Given the description of an element on the screen output the (x, y) to click on. 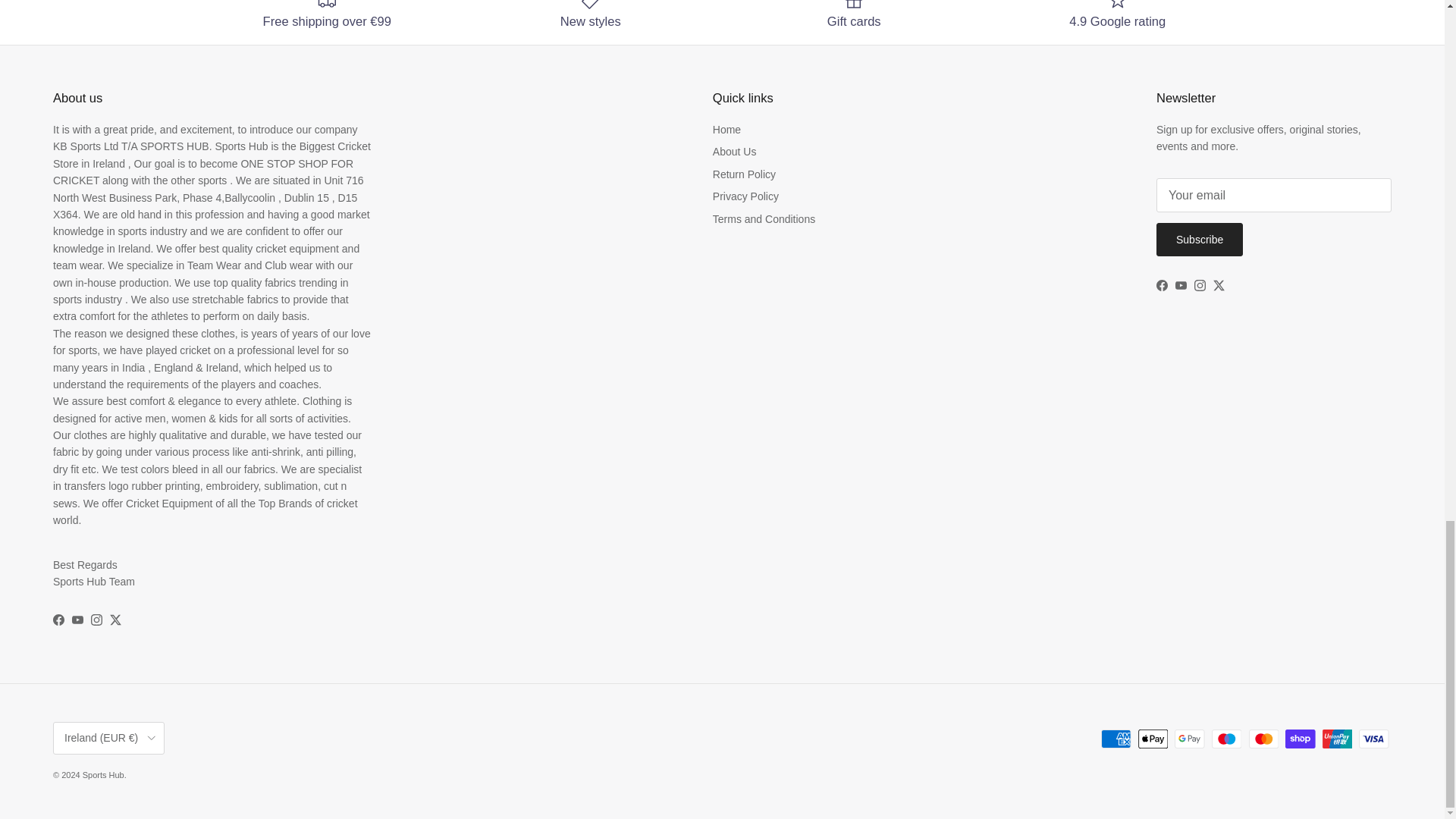
Sports Hub on Instagram (1199, 285)
Sports Hub on Twitter (115, 619)
Sports Hub on YouTube (1180, 285)
Sports Hub on YouTube (76, 619)
Sports Hub on Instagram (95, 619)
Sports Hub on Facebook (58, 619)
Sports Hub on Twitter (1218, 285)
Sports Hub on Facebook (1161, 285)
